Given the description of an element on the screen output the (x, y) to click on. 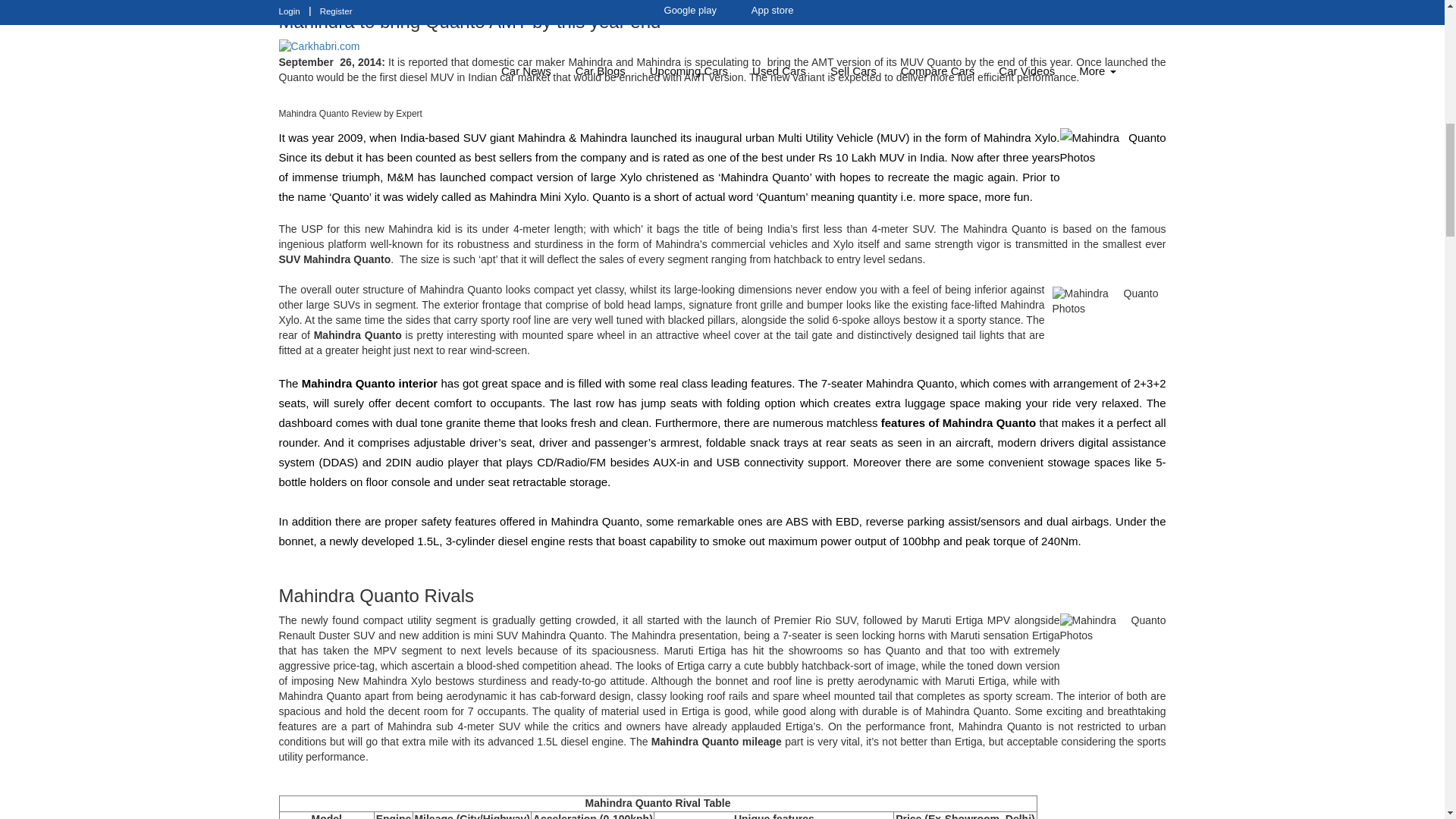
Mahindra Quanto Photos (1105, 320)
Mahindra Quanto Photos (1112, 161)
Mahindra Quanto Photos (1112, 647)
